Given the description of an element on the screen output the (x, y) to click on. 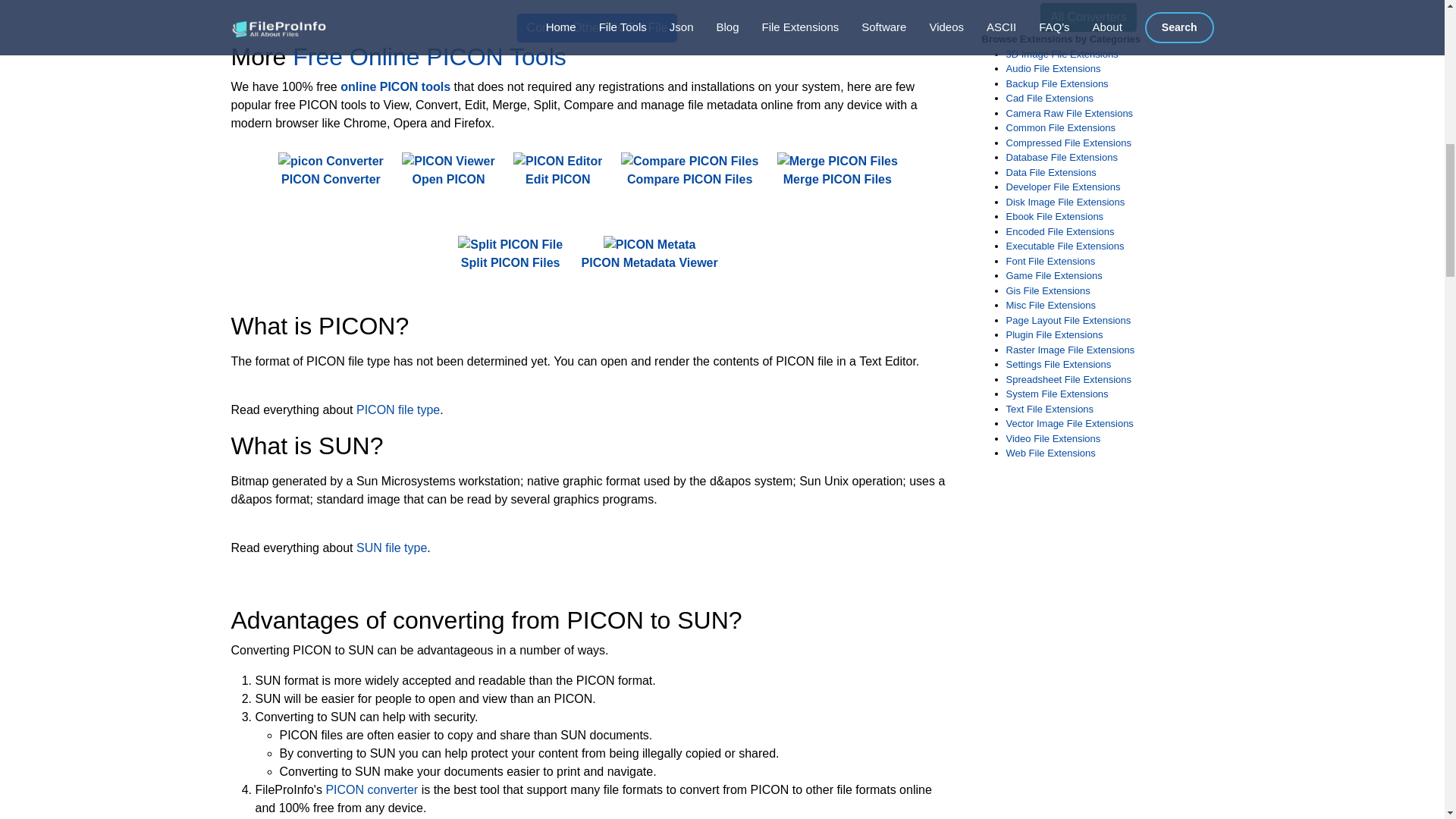
Free Online PICON Tools (429, 56)
Open PICON (448, 170)
PICON Converter (331, 170)
PICON Viewer, open PICON file online and free. (448, 170)
picon Converter online free (331, 161)
Split PICON Files (510, 254)
SUN file type (391, 547)
Convert Other PICON File (597, 27)
Compare PICON Files (689, 170)
PICON converter (370, 789)
PICON Converter. (331, 170)
Browse all free online PICON tools (394, 86)
Merge PICON Files (837, 170)
online PICON tools (394, 86)
PICON file type (397, 409)
